Given the description of an element on the screen output the (x, y) to click on. 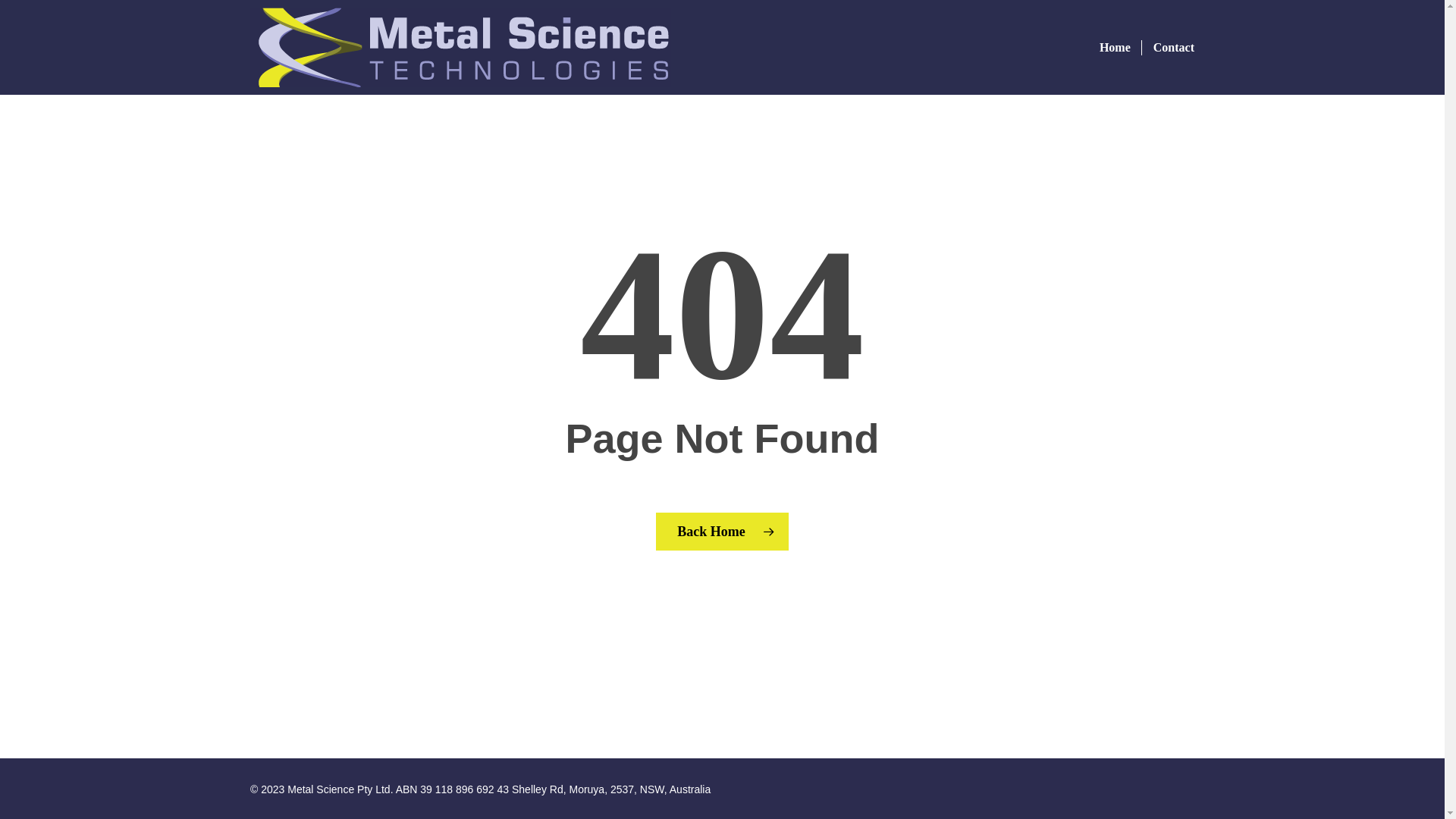
Home Element type: text (1115, 46)
Back Home Element type: text (721, 531)
Contact Element type: text (1168, 46)
